Given the description of an element on the screen output the (x, y) to click on. 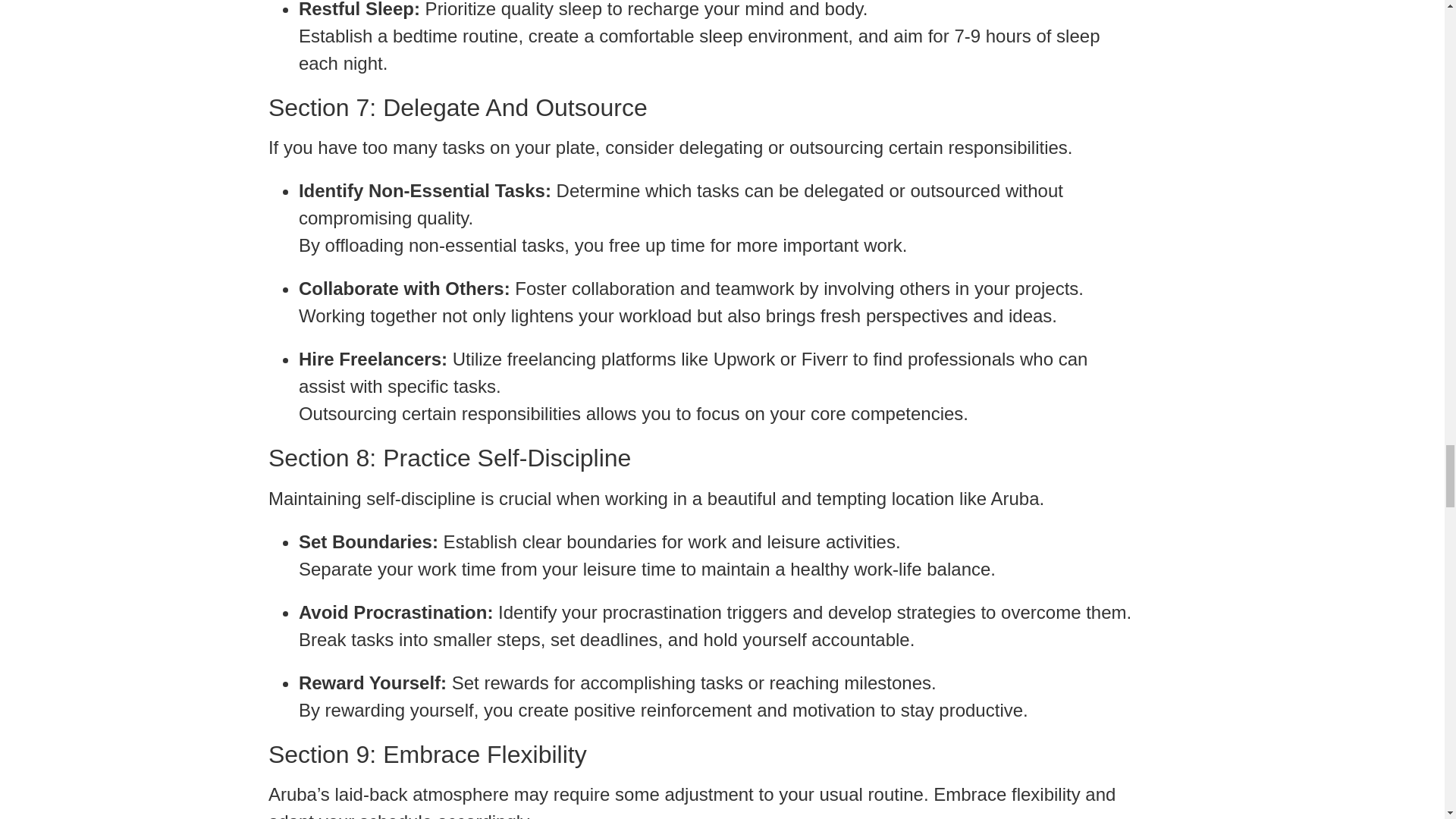
Section 9: Embrace Flexibility (699, 754)
Section 8: Practice Self-Discipline (699, 457)
Section 7: Delegate and Outsource (699, 107)
